Given the description of an element on the screen output the (x, y) to click on. 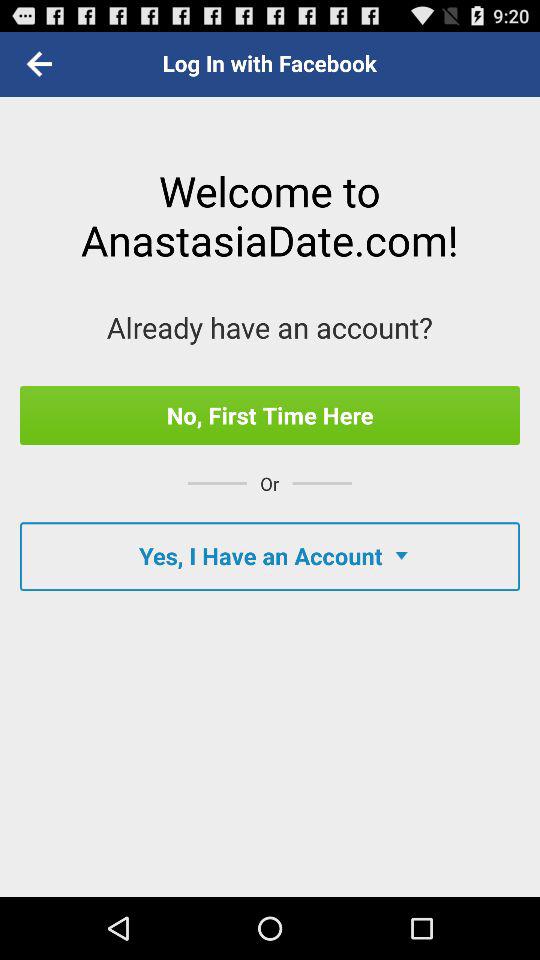
flip until no first time button (269, 415)
